Given the description of an element on the screen output the (x, y) to click on. 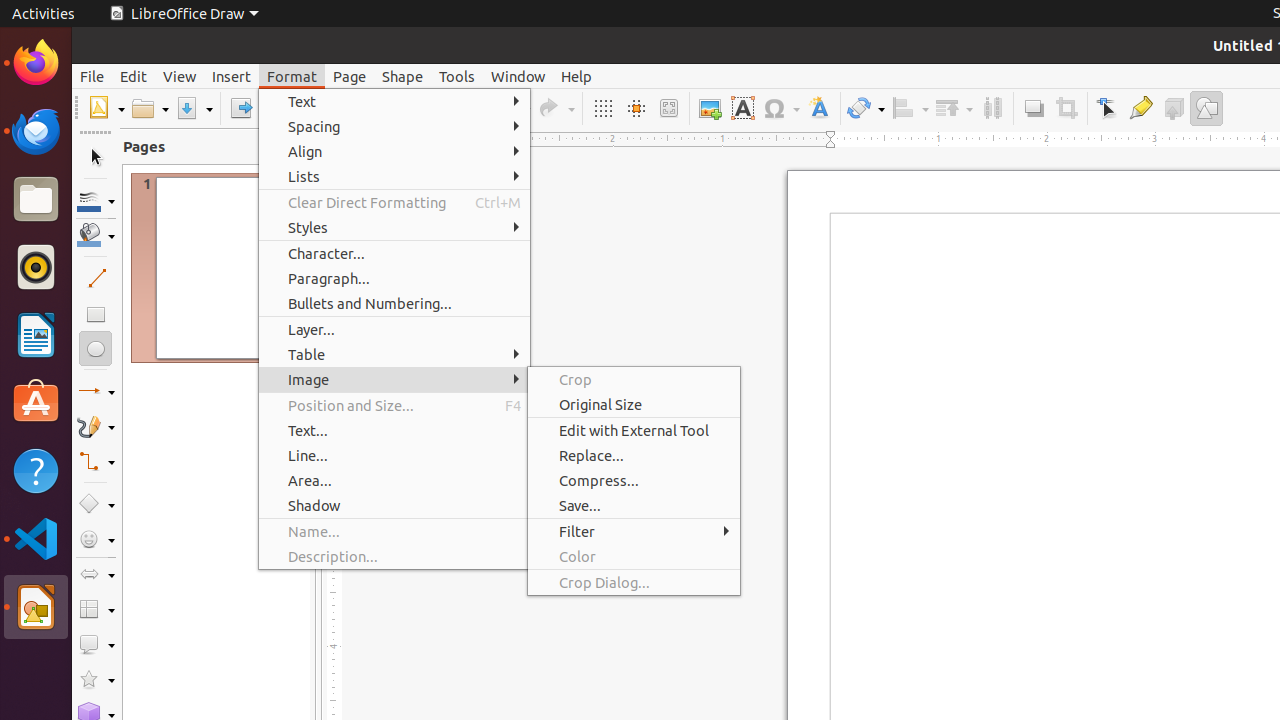
Spacing Element type: menu (394, 126)
Text Element type: menu (394, 101)
Align Element type: menu (394, 151)
Shape Element type: menu (402, 76)
Rhythmbox Element type: push-button (36, 267)
